Given the description of an element on the screen output the (x, y) to click on. 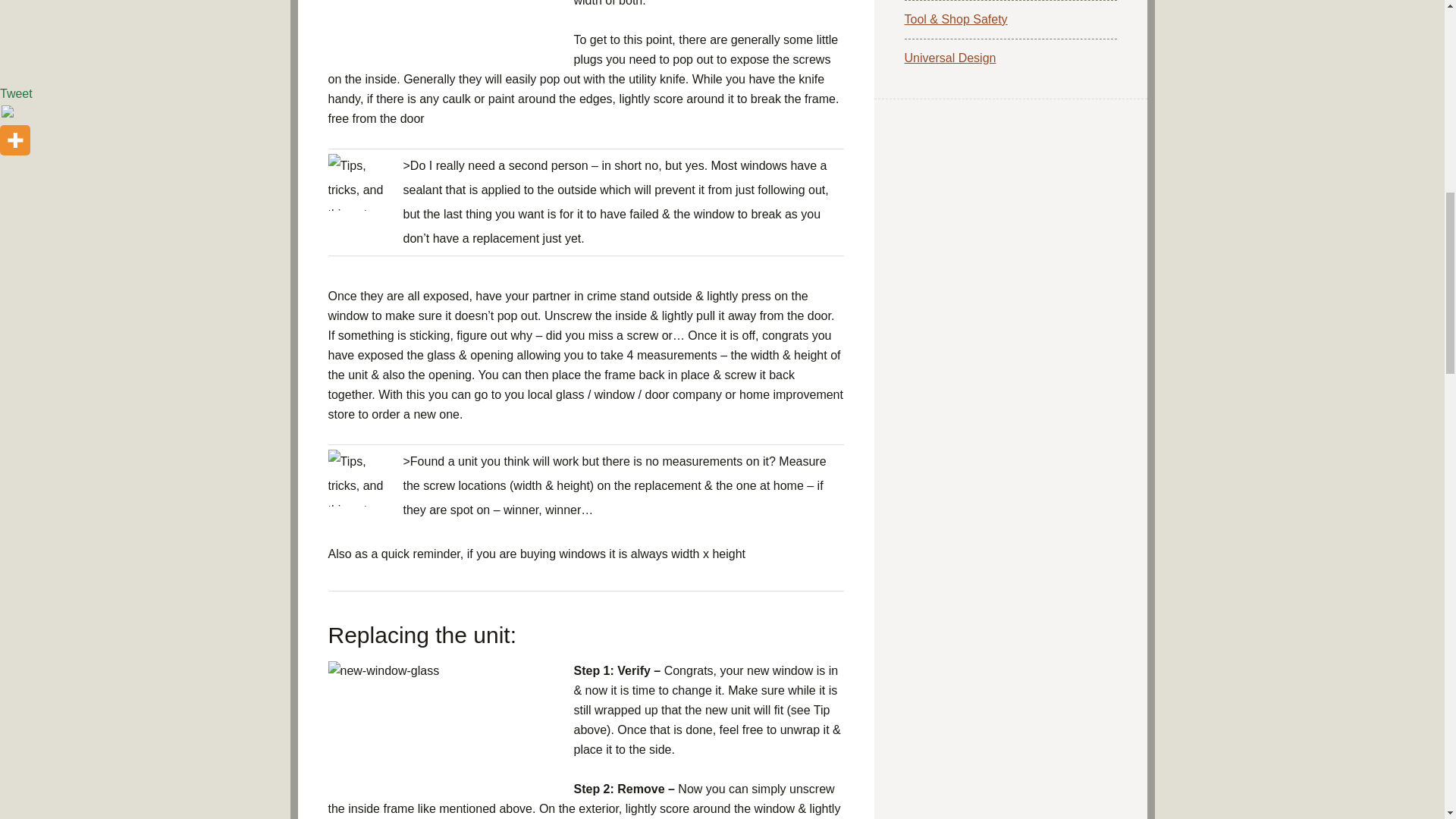
Universal Design (949, 57)
